Given the description of an element on the screen output the (x, y) to click on. 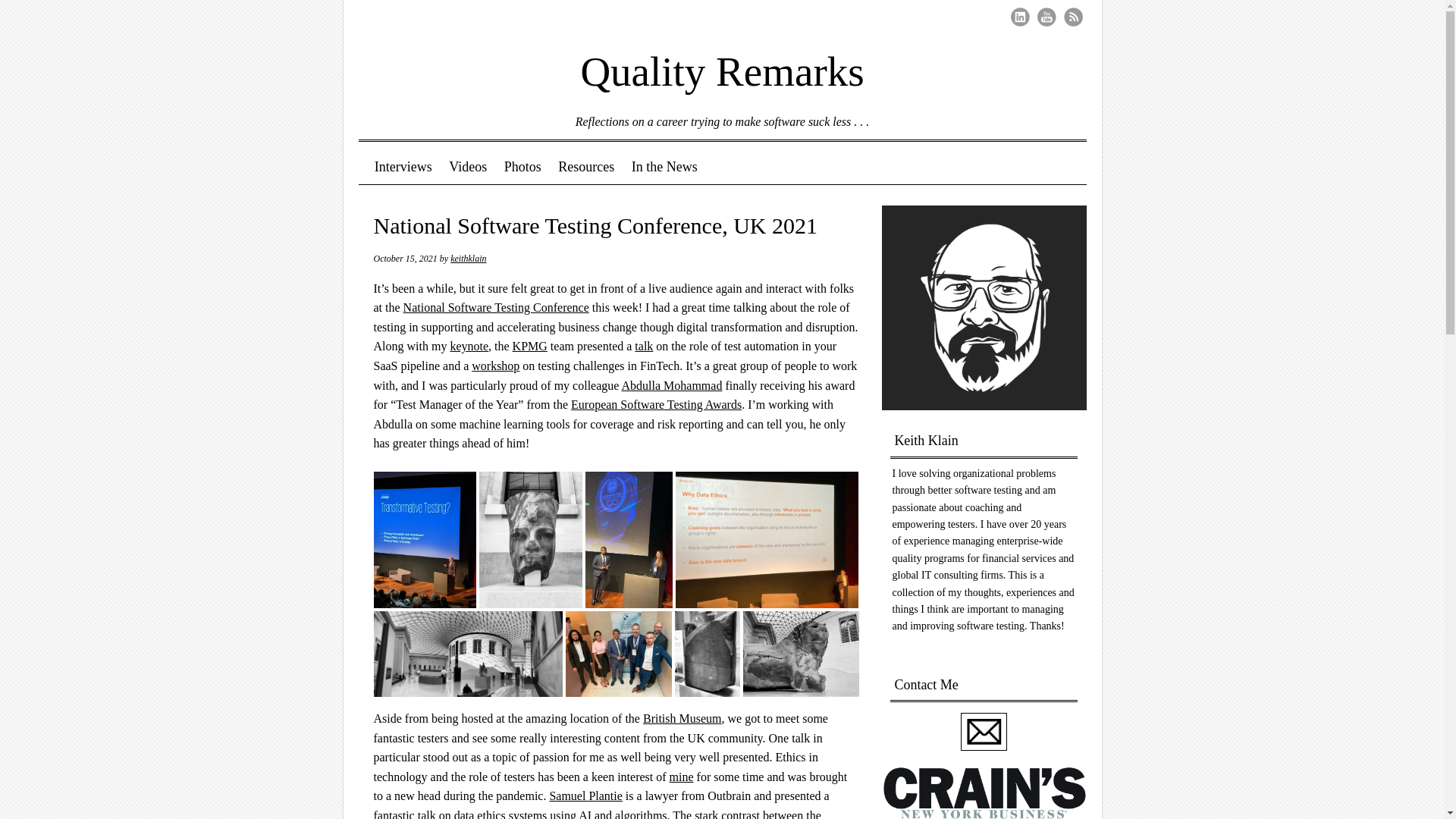
workshop (495, 365)
Abdulla Mohammad (671, 385)
LinkedIn (1019, 16)
European Software Testing Awards (655, 404)
Quality Remarks (721, 61)
talk (643, 345)
talk (426, 814)
Resources (586, 167)
Photos (522, 167)
keithklain (467, 258)
Skip to content (415, 167)
In the News (663, 167)
Youtube (1046, 16)
RSS Feed (1071, 16)
British Museum (682, 717)
